Given the description of an element on the screen output the (x, y) to click on. 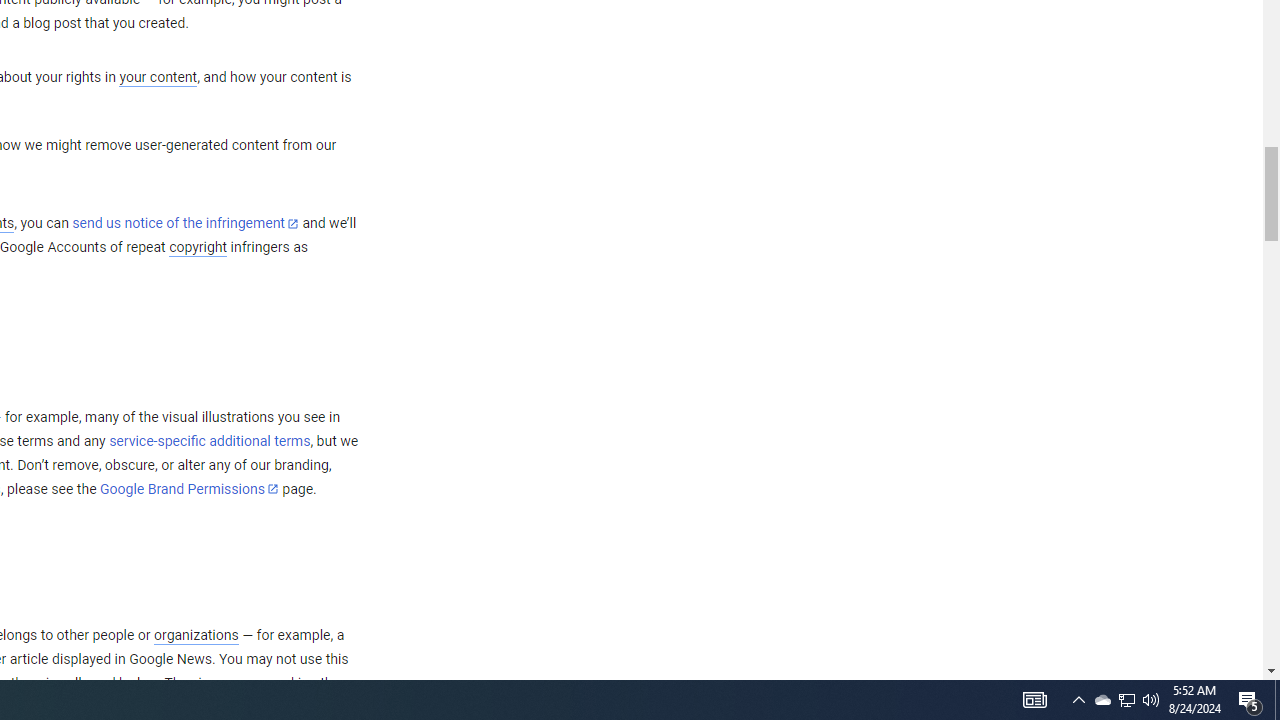
organizations (196, 635)
your content (158, 78)
Google Brand Permissions (189, 489)
service-specific additional terms (209, 441)
send us notice of the infringement (185, 224)
copyright (197, 248)
